Given the description of an element on the screen output the (x, y) to click on. 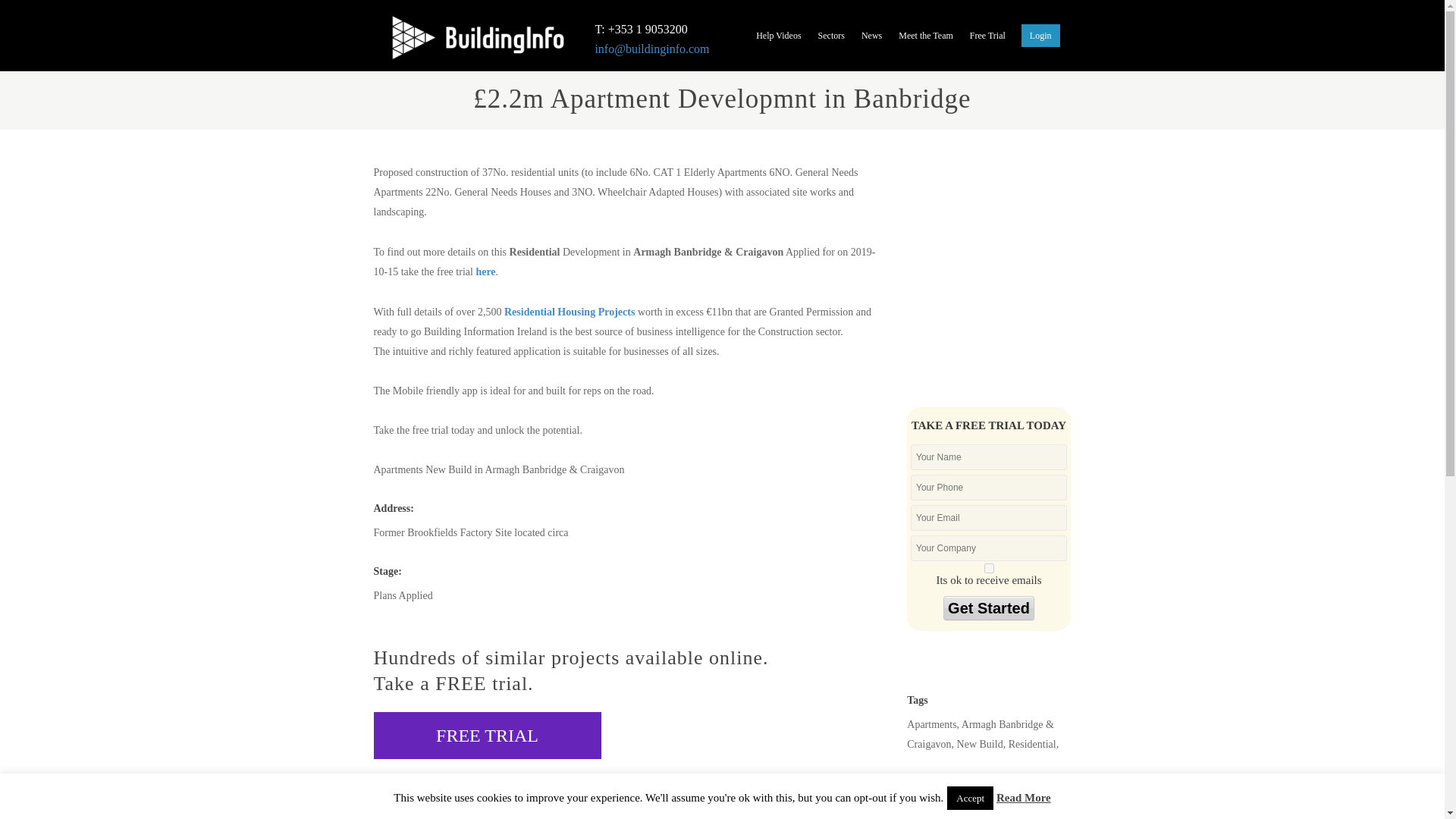
Read More (1023, 797)
Help Videos (778, 37)
Meet the Team (925, 37)
Accept (969, 797)
Residential Housing Projects (568, 311)
here (485, 271)
FREE TRIAL (485, 735)
